Given the description of an element on the screen output the (x, y) to click on. 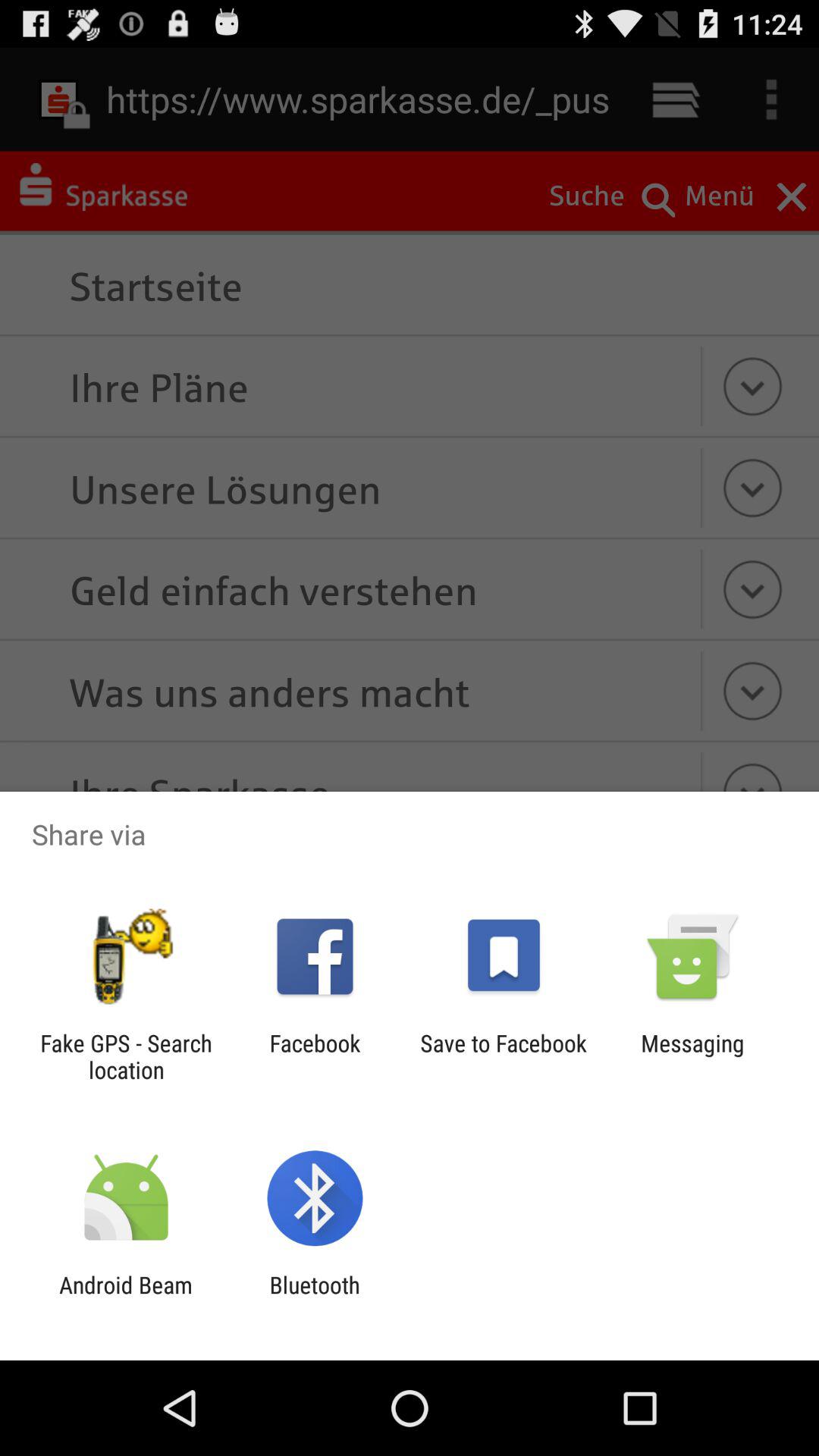
press save to facebook (503, 1056)
